Given the description of an element on the screen output the (x, y) to click on. 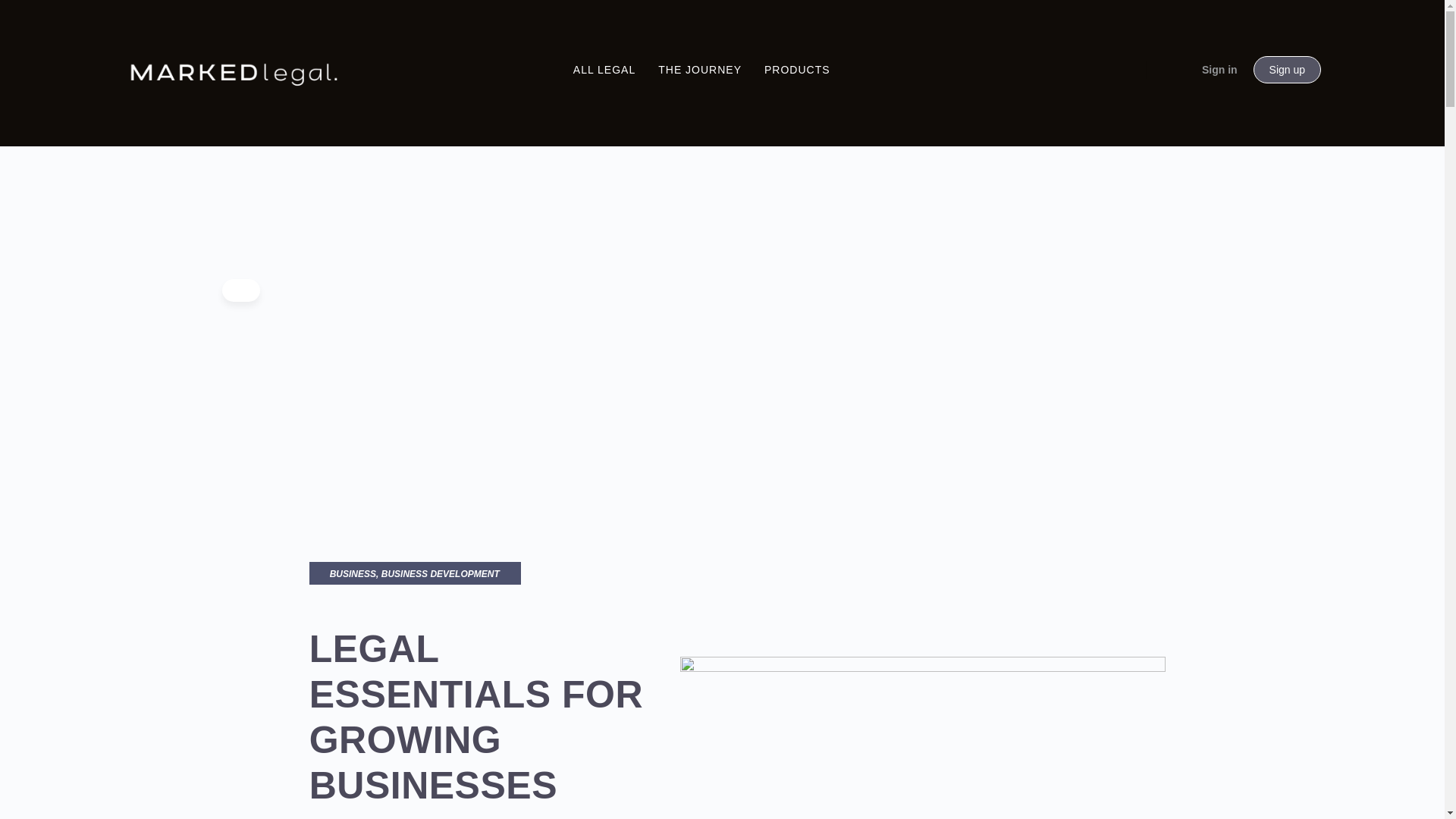
ALL LEGAL (603, 69)
Sign up (1286, 69)
Sign in (1219, 68)
PRODUCTS (796, 69)
THE JOURNEY (699, 69)
